Given the description of an element on the screen output the (x, y) to click on. 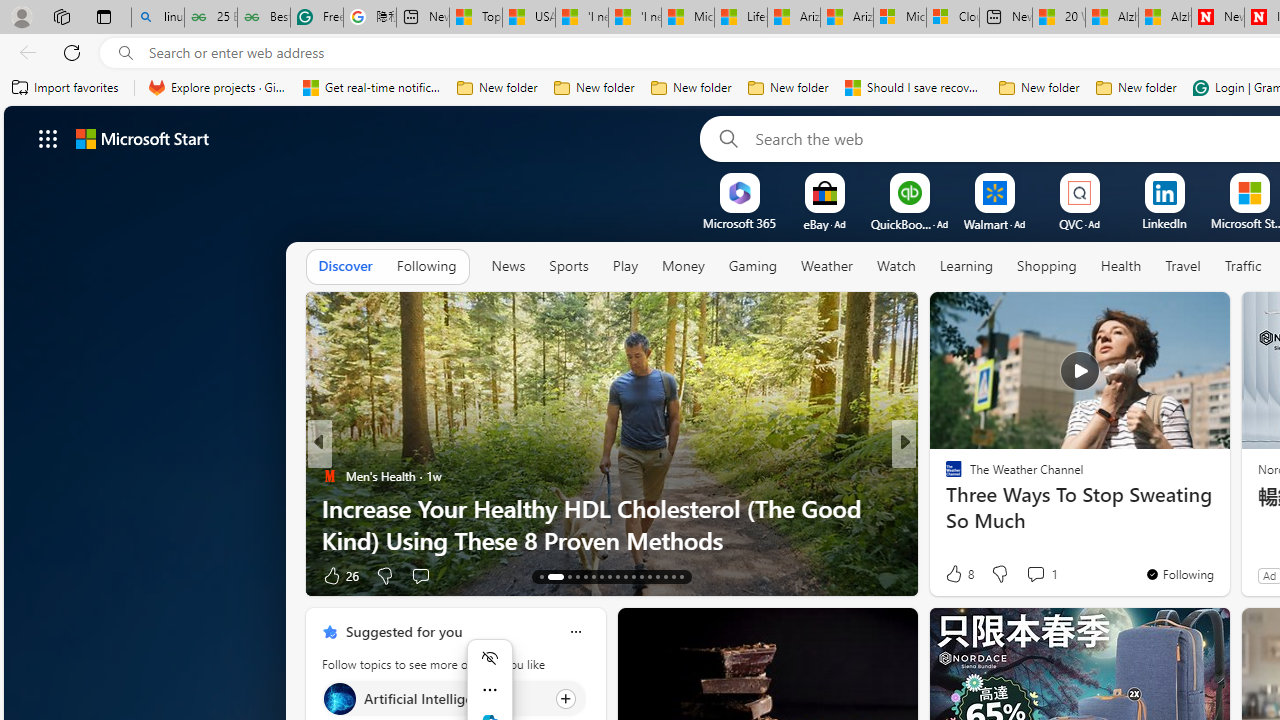
HuffPost (944, 475)
View comments 36 Comment (1042, 575)
AutomationID: tab-20 (609, 576)
USA TODAY - MSN (529, 17)
AutomationID: tab-27 (664, 576)
View comments 12 Comment (1051, 574)
View comments 36 Comment (1051, 574)
View comments 319 Comment (1048, 574)
LinkedIn (1163, 223)
AutomationID: tab-23 (632, 576)
